Given the description of an element on the screen output the (x, y) to click on. 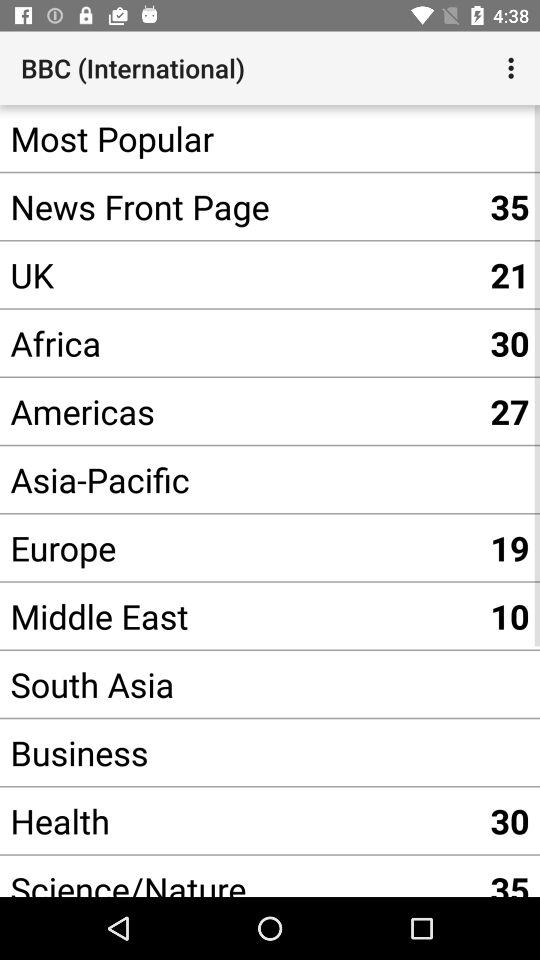
press the app next to the 27 app (240, 479)
